Given the description of an element on the screen output the (x, y) to click on. 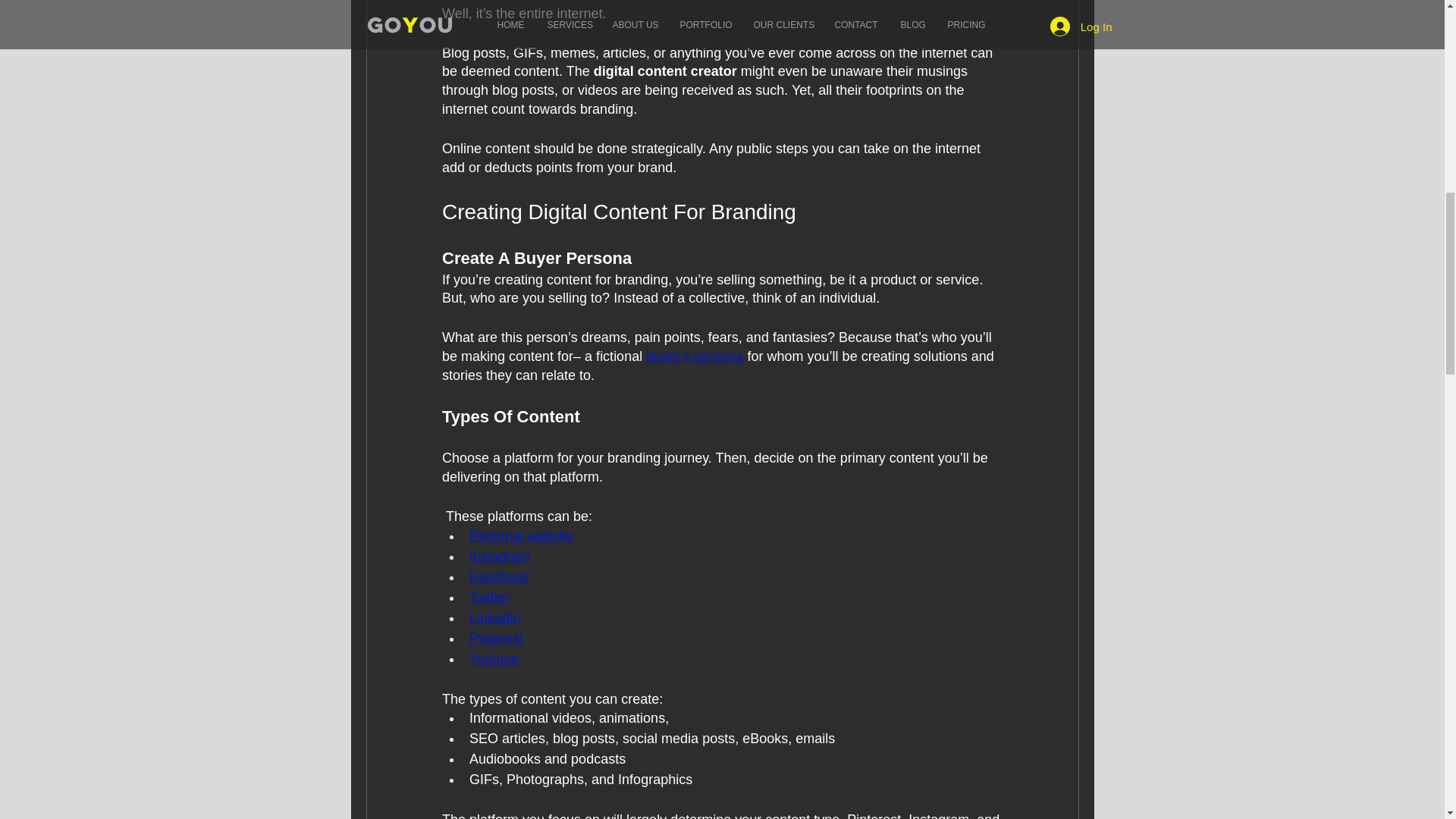
Facebook (498, 576)
Youtube (493, 658)
LinkedIn (493, 617)
Pinterest (495, 638)
Personal website (520, 535)
Twitter (488, 597)
Instagram (498, 556)
